Given the description of an element on the screen output the (x, y) to click on. 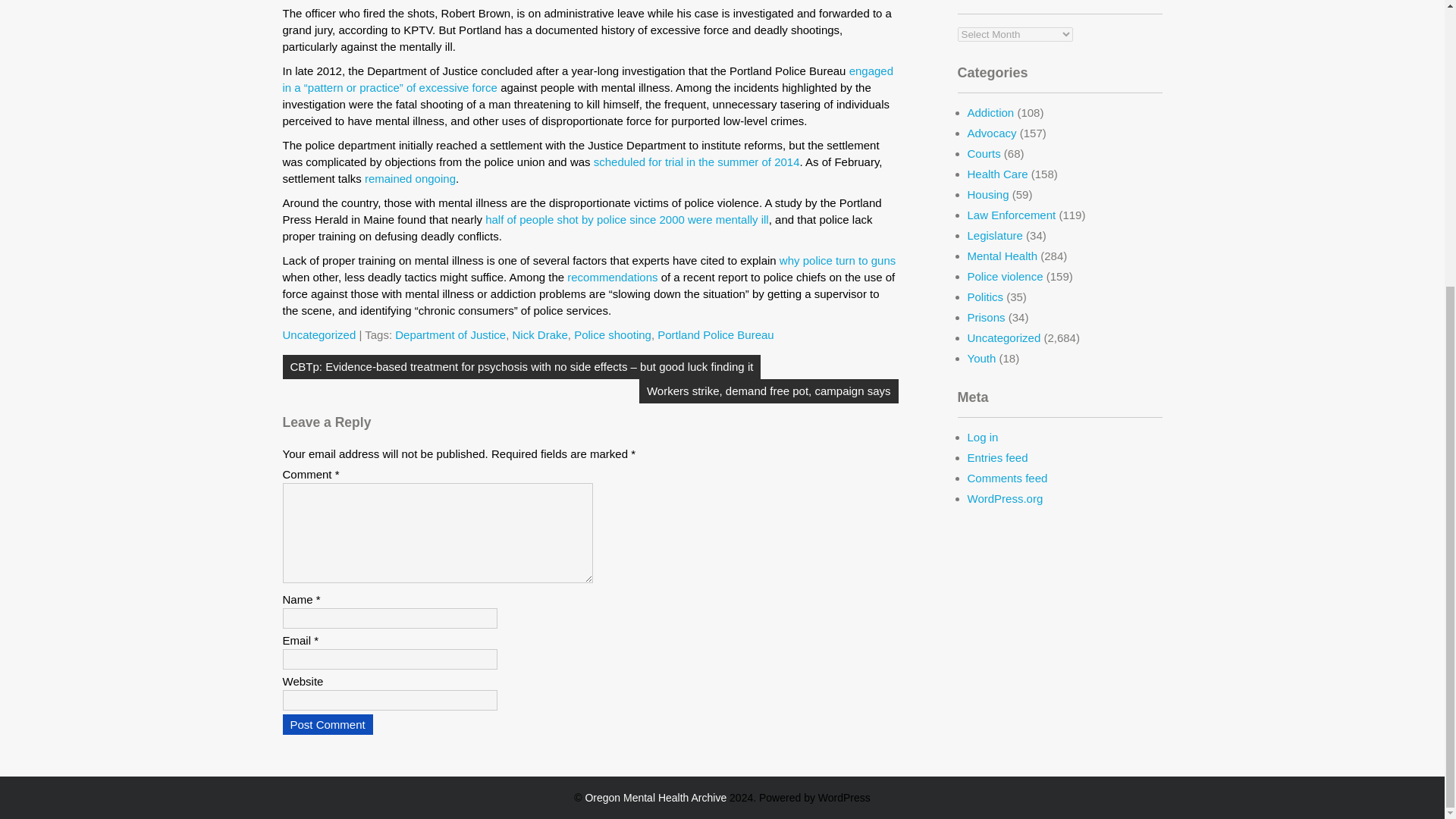
Police shooting (611, 334)
Housing (988, 194)
Uncategorized (318, 334)
Nick Drake (539, 334)
Prisons (987, 317)
Post Comment (327, 724)
Law Enforcement (1012, 214)
Politics (986, 296)
Legislature (995, 235)
Workers strike, demand free pot, campaign says (768, 391)
